Given the description of an element on the screen output the (x, y) to click on. 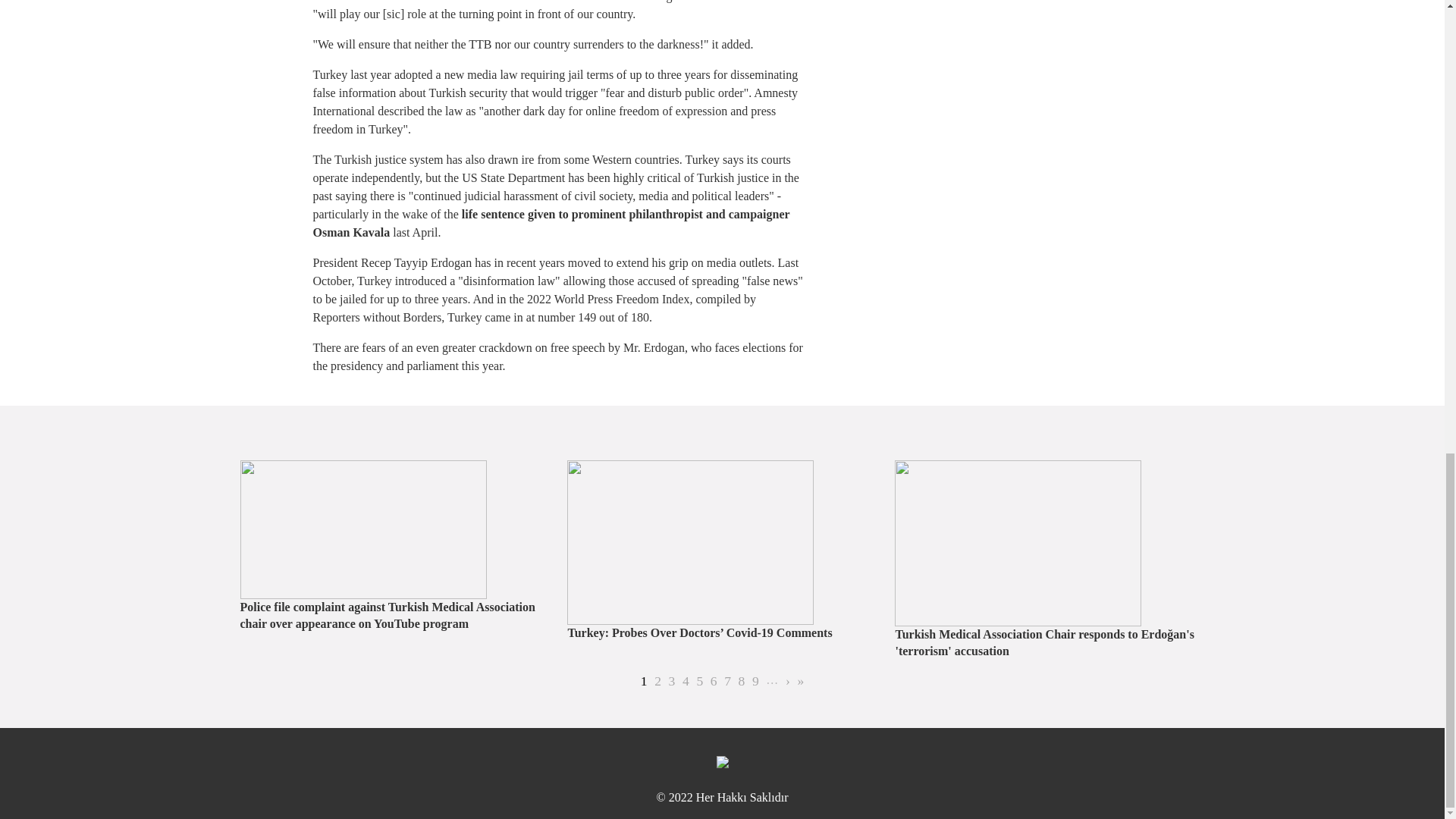
Go to page 5 (699, 680)
Go to page 3 (699, 680)
Go to page 6 (671, 680)
Go to page 2 (713, 680)
Current page (741, 680)
Go to page 9 (657, 680)
Go to page 8 (643, 680)
Go to page 4 (657, 680)
